Given the description of an element on the screen output the (x, y) to click on. 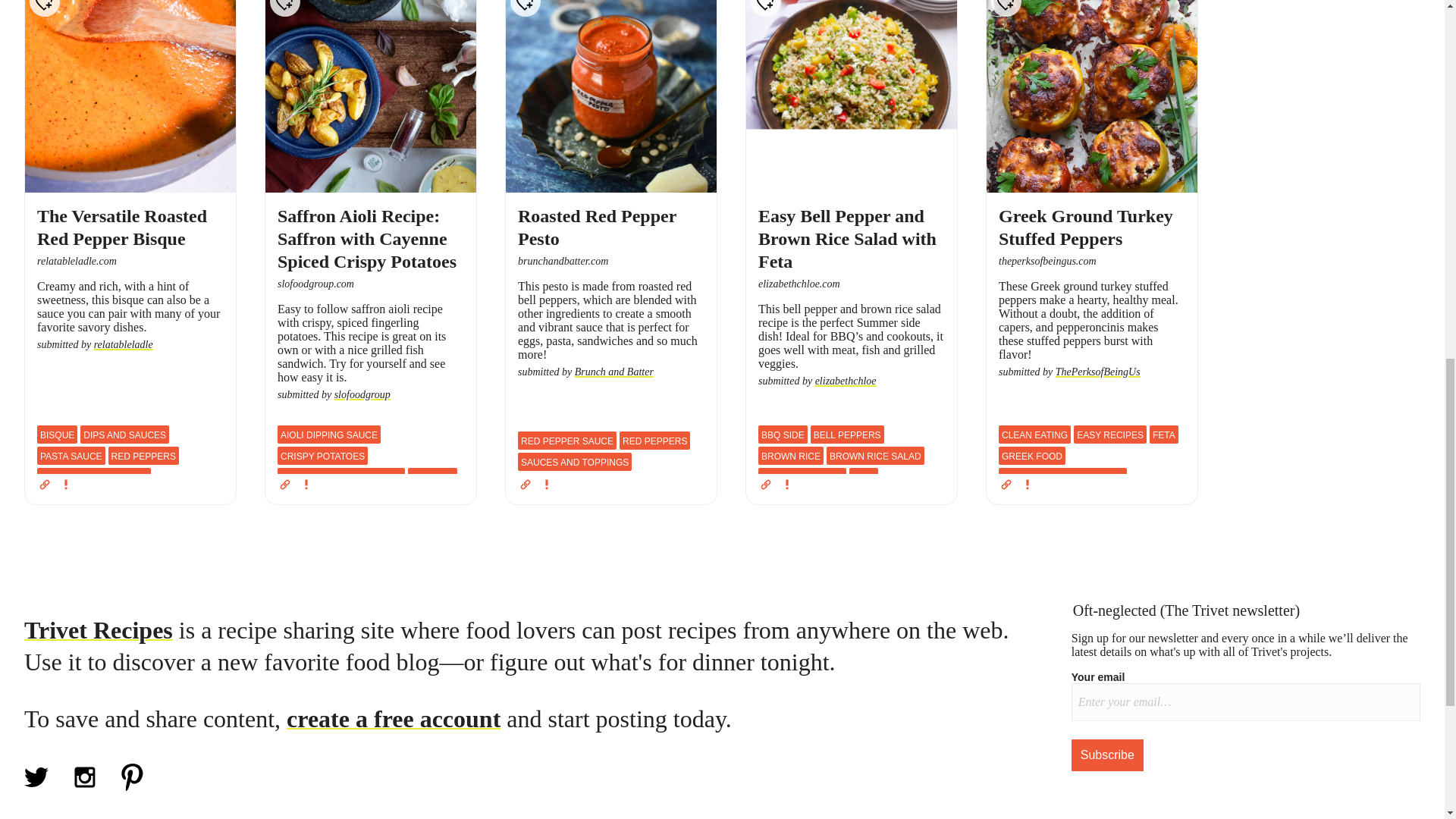
Save Recipe (525, 8)
twitter logo (36, 776)
follow us on Instagram (84, 786)
Save Recipe (1006, 8)
Save Recipe (765, 8)
Save Recipe (284, 8)
Save Recipe (44, 8)
